Given the description of an element on the screen output the (x, y) to click on. 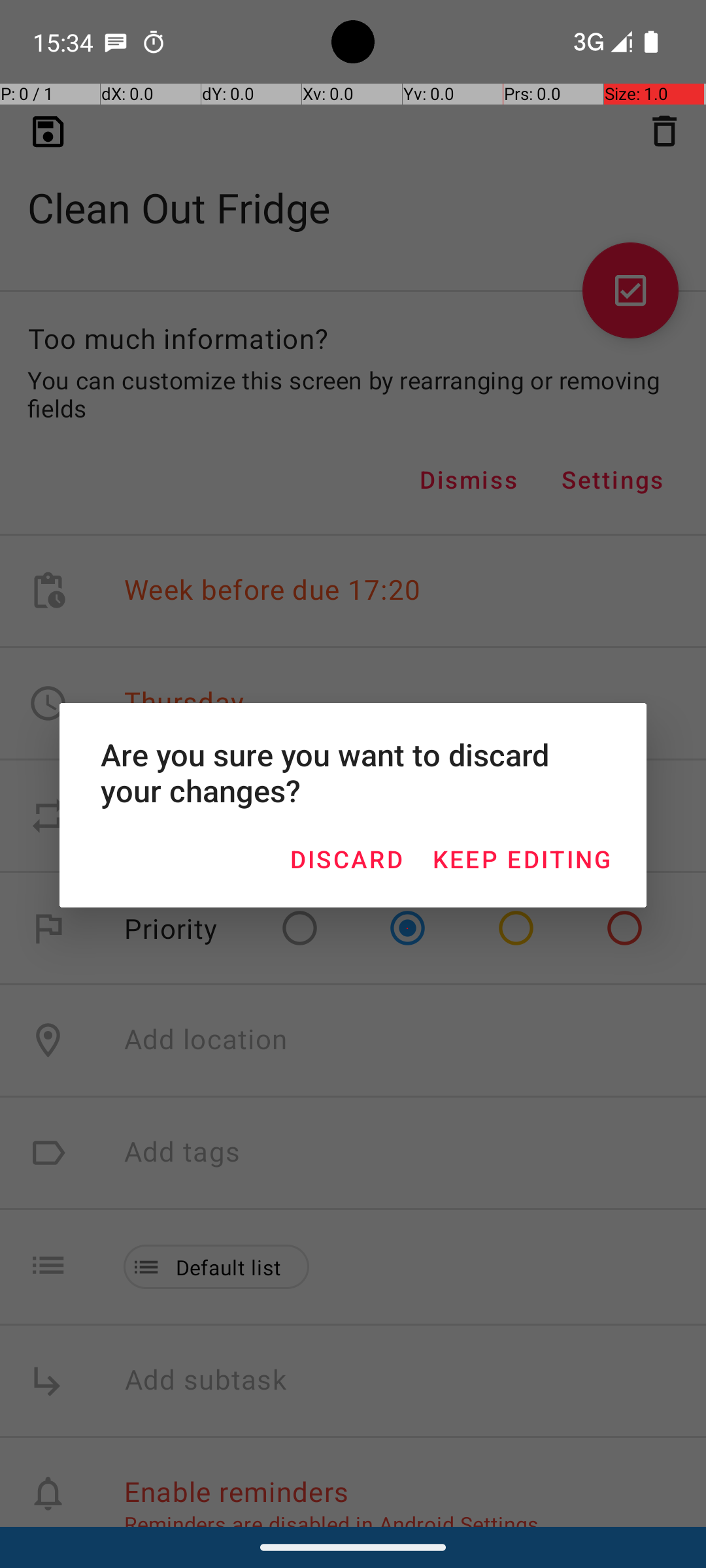
Are you sure you want to discard your changes? Element type: android.widget.TextView (352, 771)
DISCARD Element type: android.widget.Button (345, 858)
KEEP EDITING Element type: android.widget.Button (521, 858)
